Given the description of an element on the screen output the (x, y) to click on. 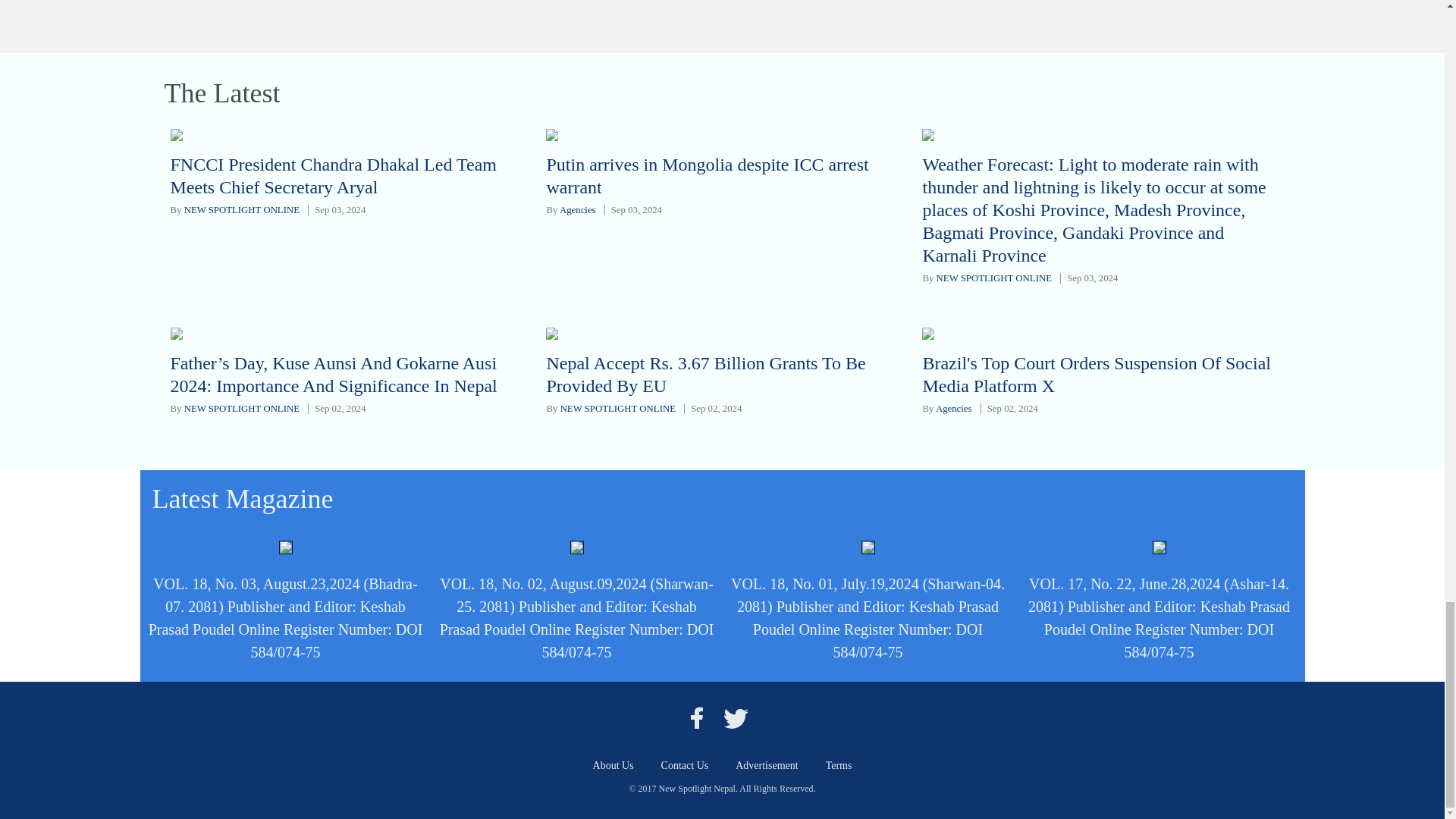
Spotlight Nepal Twitter (735, 717)
facebook icon (695, 717)
twitter icon (735, 717)
Spotlight Nepal Facebook (695, 717)
